Given the description of an element on the screen output the (x, y) to click on. 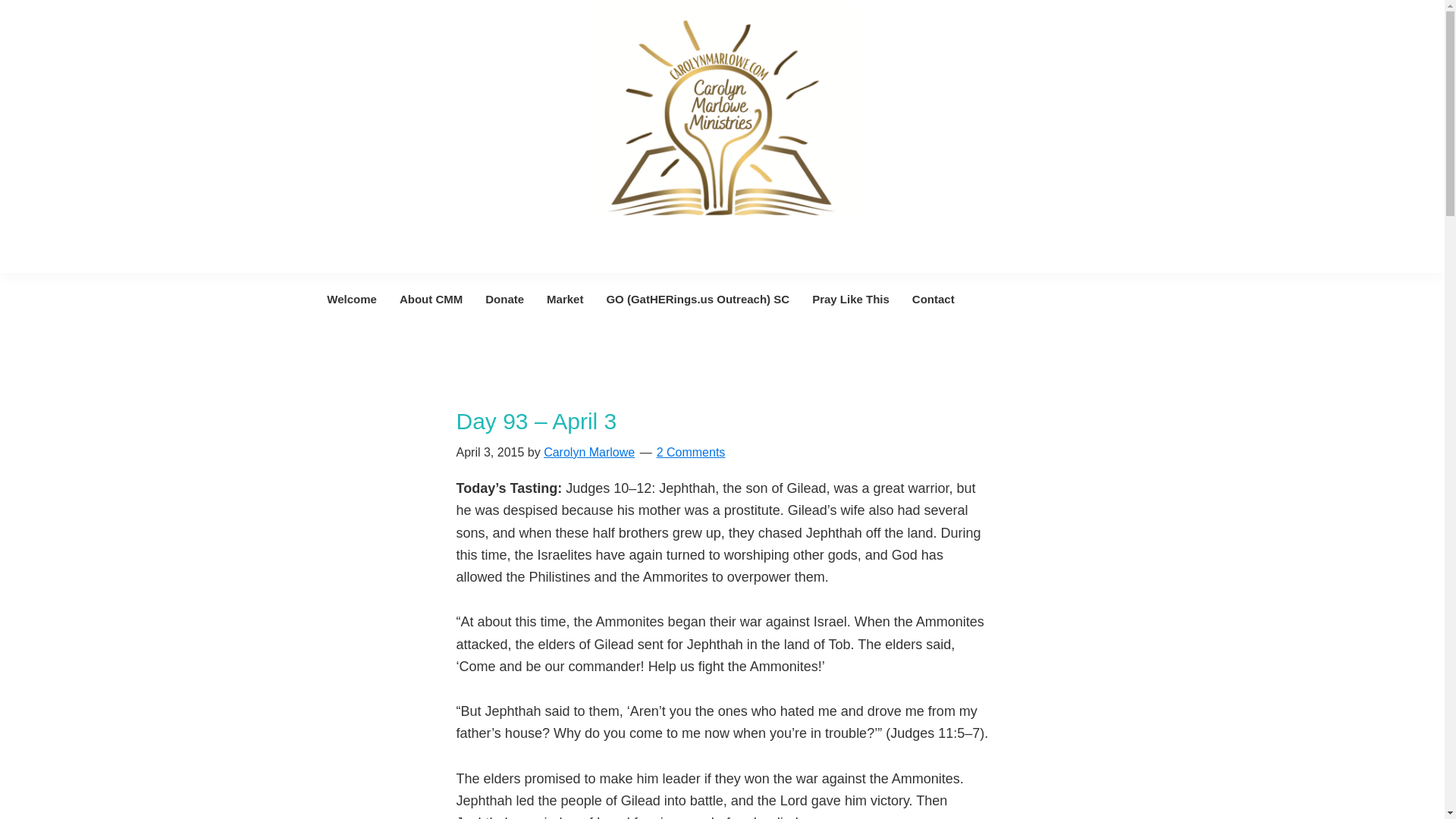
Donate (504, 298)
Welcome (351, 298)
Carolyn Marlowe (588, 451)
2 Comments (690, 451)
Market (564, 298)
Contact (933, 298)
Pray Like This (850, 298)
About CMM (431, 298)
